Given the description of an element on the screen output the (x, y) to click on. 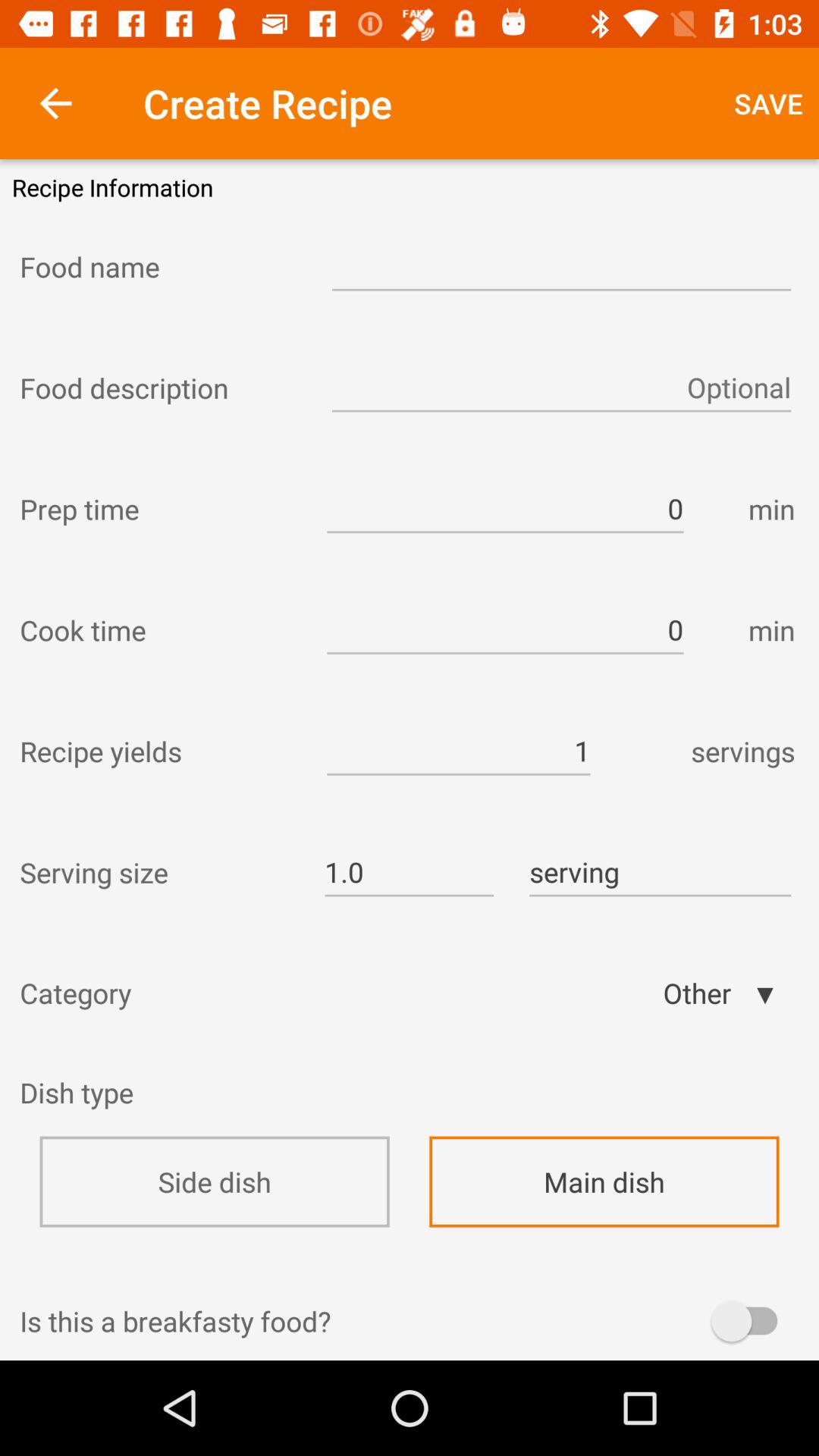
jump to the is this a (409, 1321)
